Given the description of an element on the screen output the (x, y) to click on. 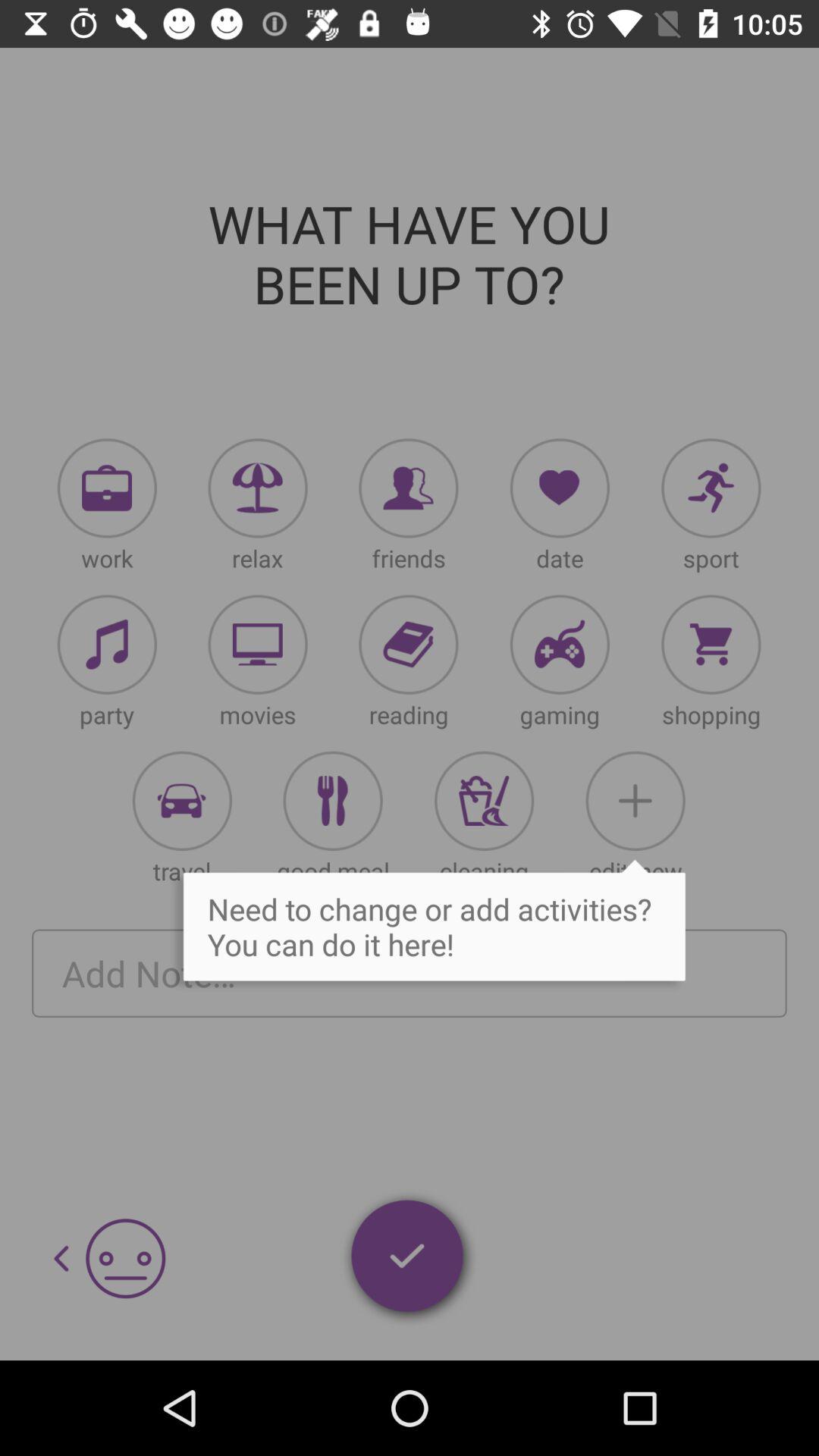
relax (257, 488)
